Given the description of an element on the screen output the (x, y) to click on. 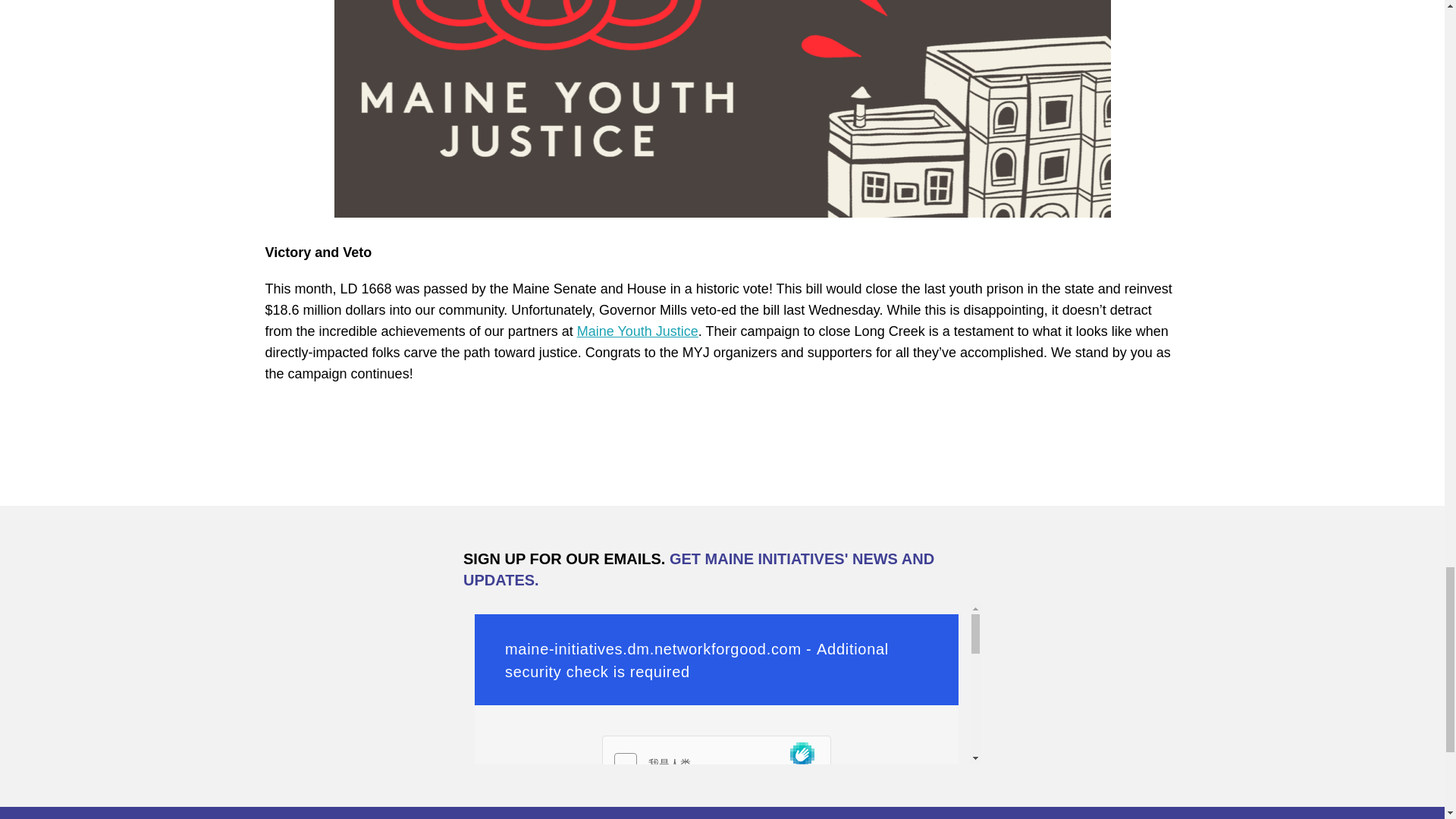
Maine Initiatives sign up for newsletter form (722, 683)
